Given the description of an element on the screen output the (x, y) to click on. 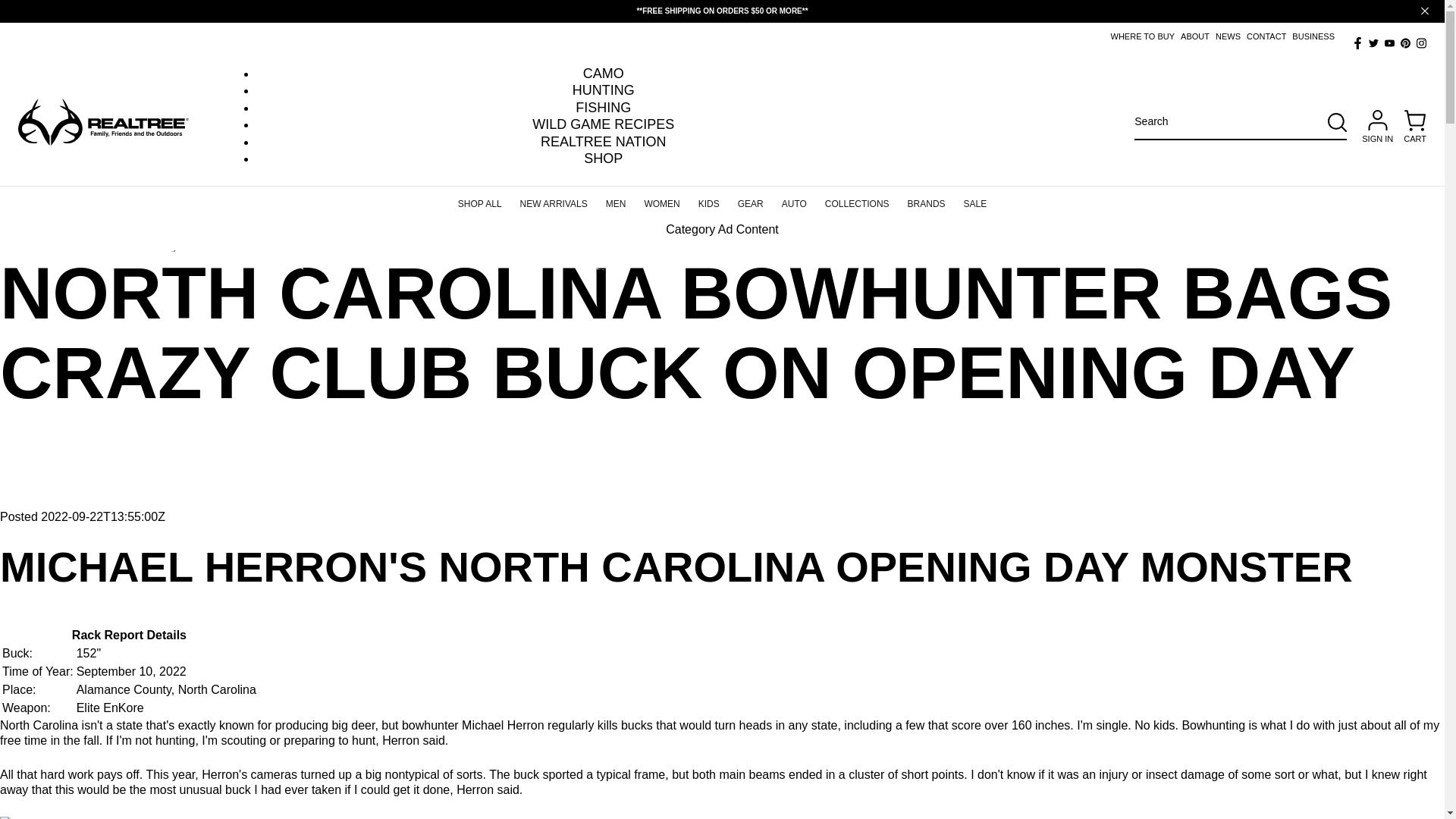
Close (1424, 10)
HUNTING (603, 90)
VIEW OUR INSTAGRAM (1421, 42)
NEWS (1227, 35)
NEW ARRIVALS (553, 197)
VIEW OUR YOUTUBE (1389, 42)
REALTREE NATION (602, 141)
MEN (615, 197)
Close promo bar (1424, 10)
View our pinterest. Opens in a new window. (1405, 42)
VIEW OUR PINTEREST (1405, 42)
AUTO (794, 197)
SIGN IN (1377, 127)
SALE (975, 197)
View our twitter. Opens in a new window. (1373, 42)
